Given the description of an element on the screen output the (x, y) to click on. 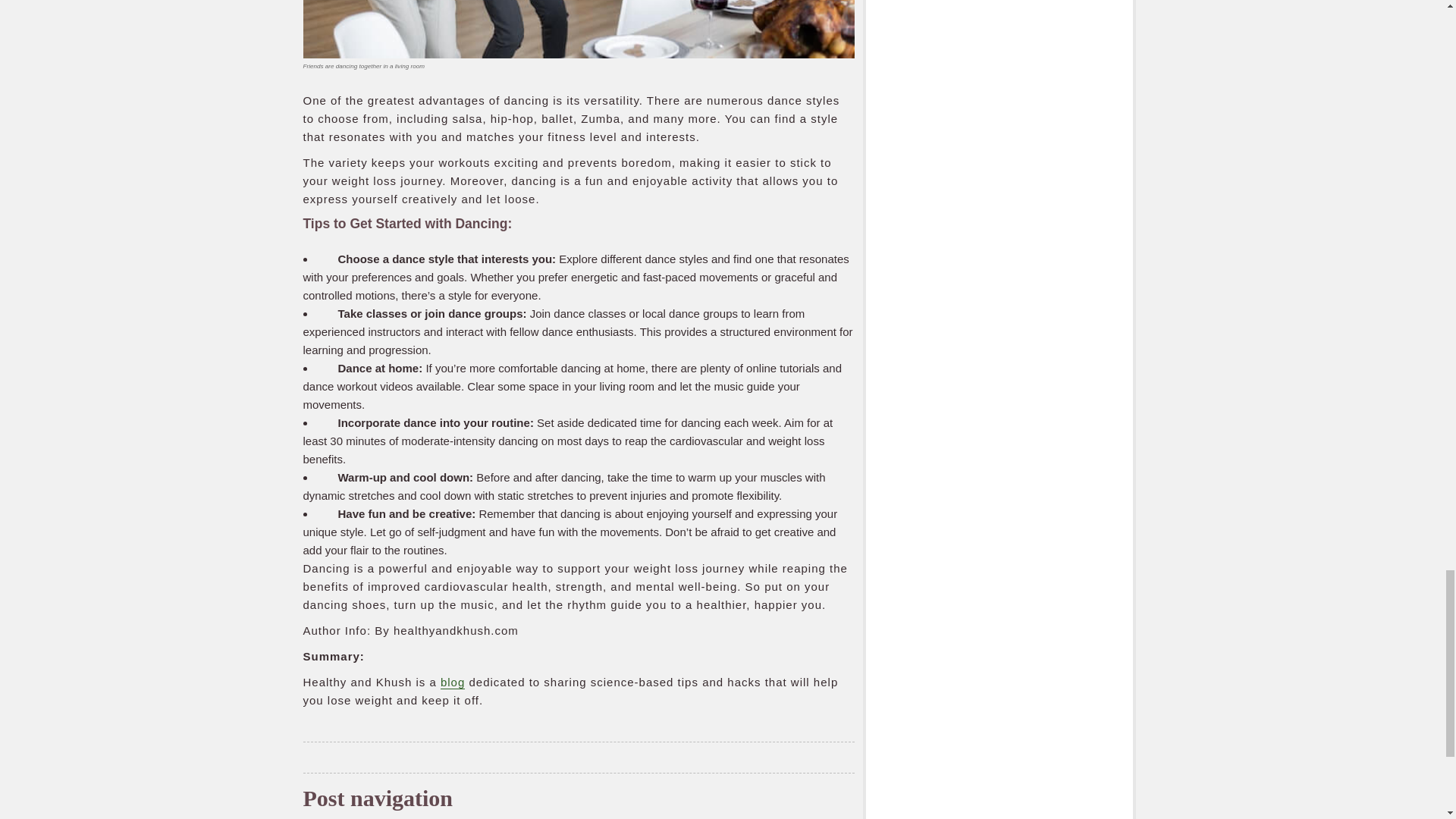
blog (452, 681)
